Given the description of an element on the screen output the (x, y) to click on. 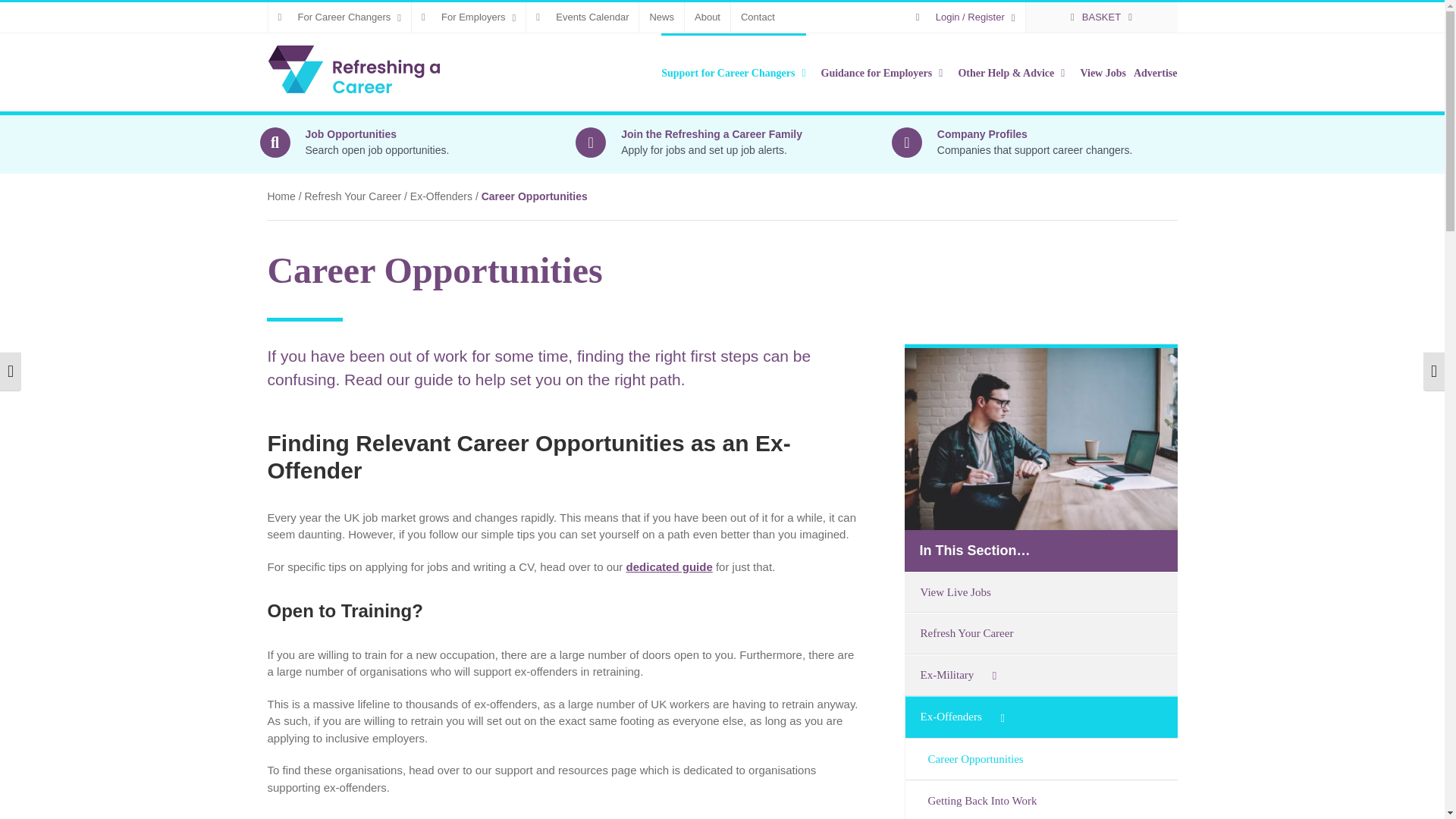
Events Calendar (582, 17)
BASKET (1101, 17)
For Employers (468, 17)
News (661, 17)
About (707, 17)
For Career Changers (339, 17)
Contact (757, 17)
